Given the description of an element on the screen output the (x, y) to click on. 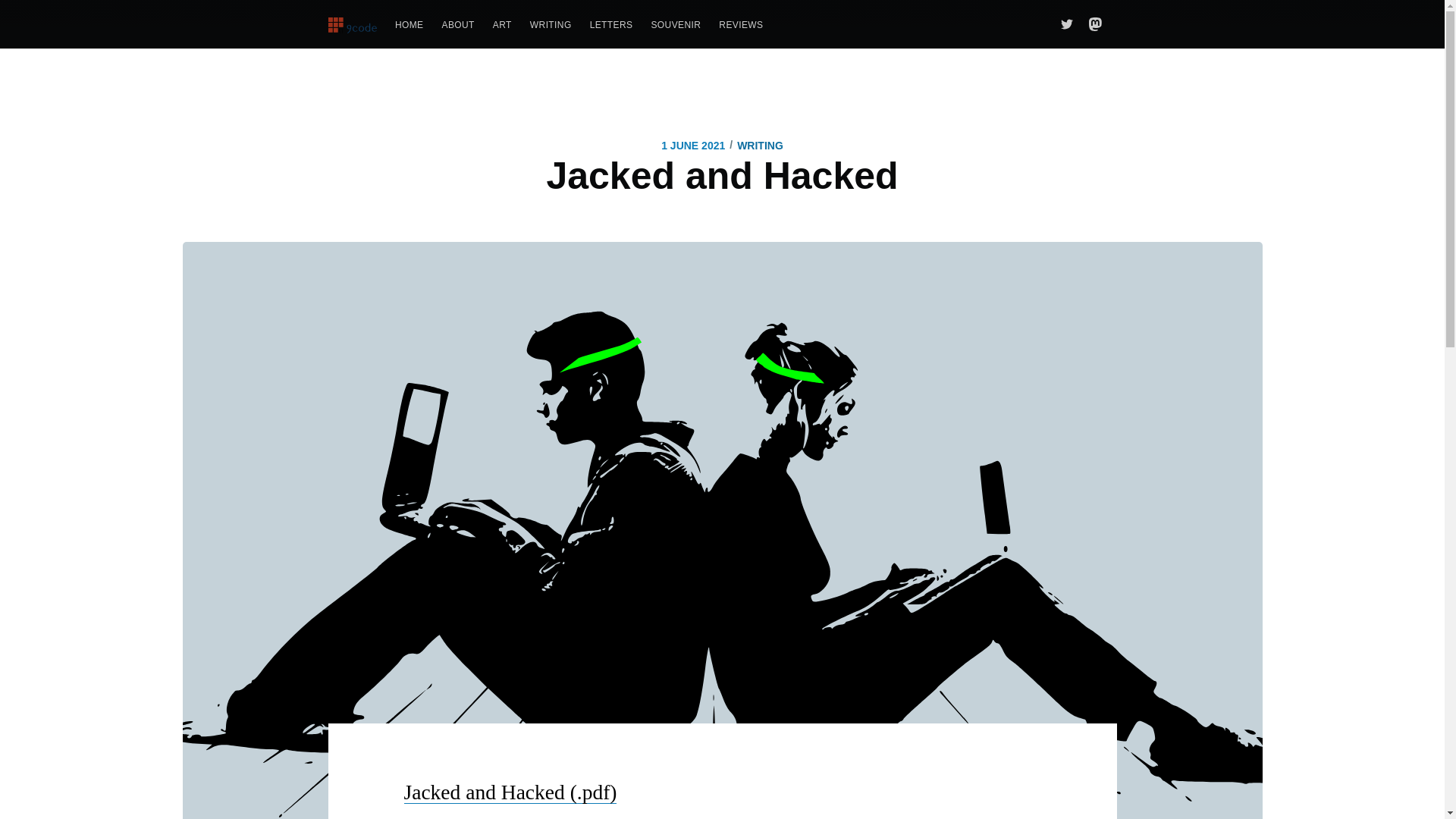
LETTERS (611, 25)
WRITING (759, 145)
ABOUT (457, 25)
REVIEWS (740, 25)
ART (502, 25)
HOME (408, 25)
WRITING (550, 25)
SOUVENIR (676, 25)
